Given the description of an element on the screen output the (x, y) to click on. 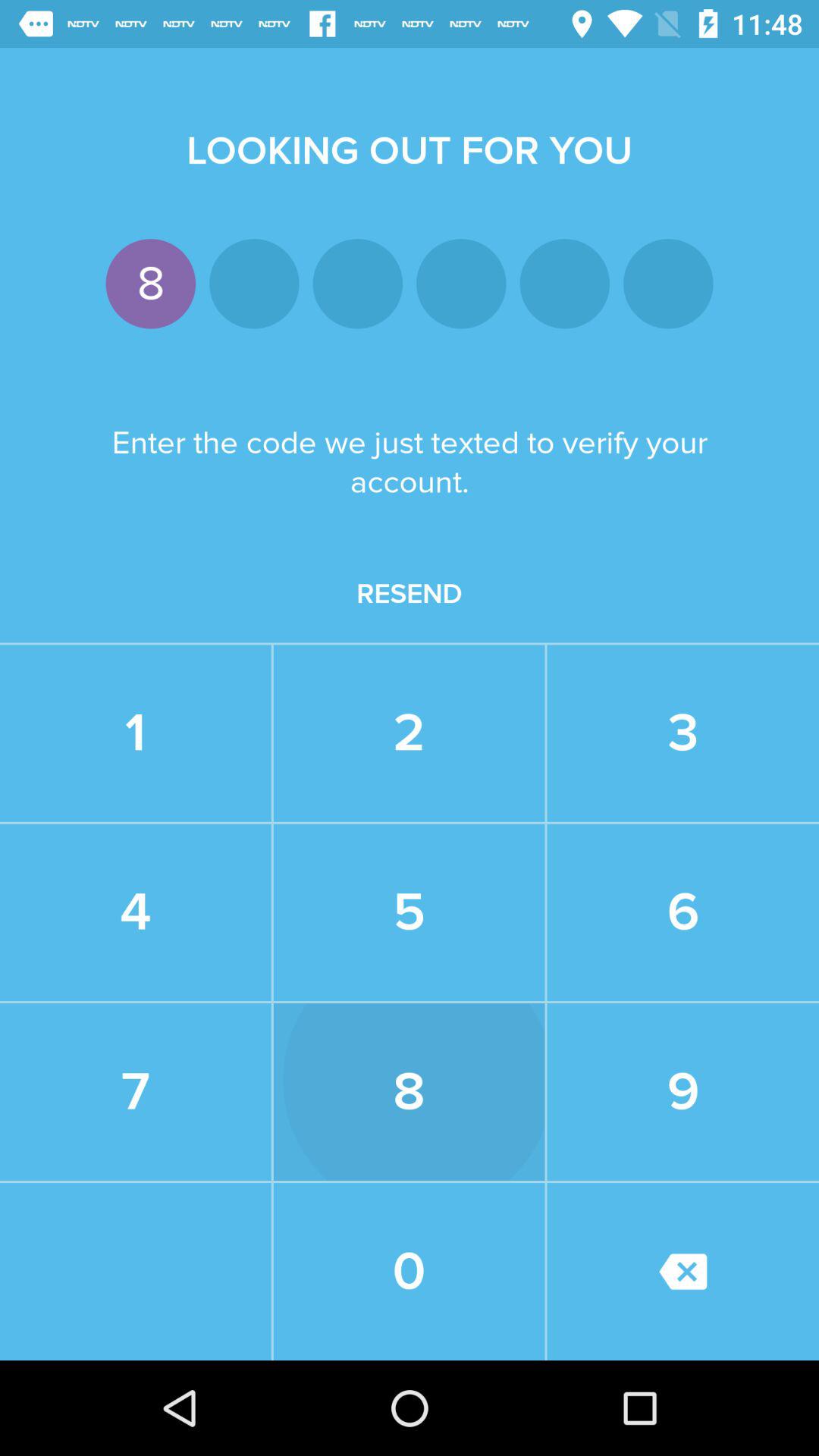
click 6 (683, 912)
click 9 (683, 1091)
select 3 (683, 733)
click 0 in the dial pad (409, 1270)
